Given the description of an element on the screen output the (x, y) to click on. 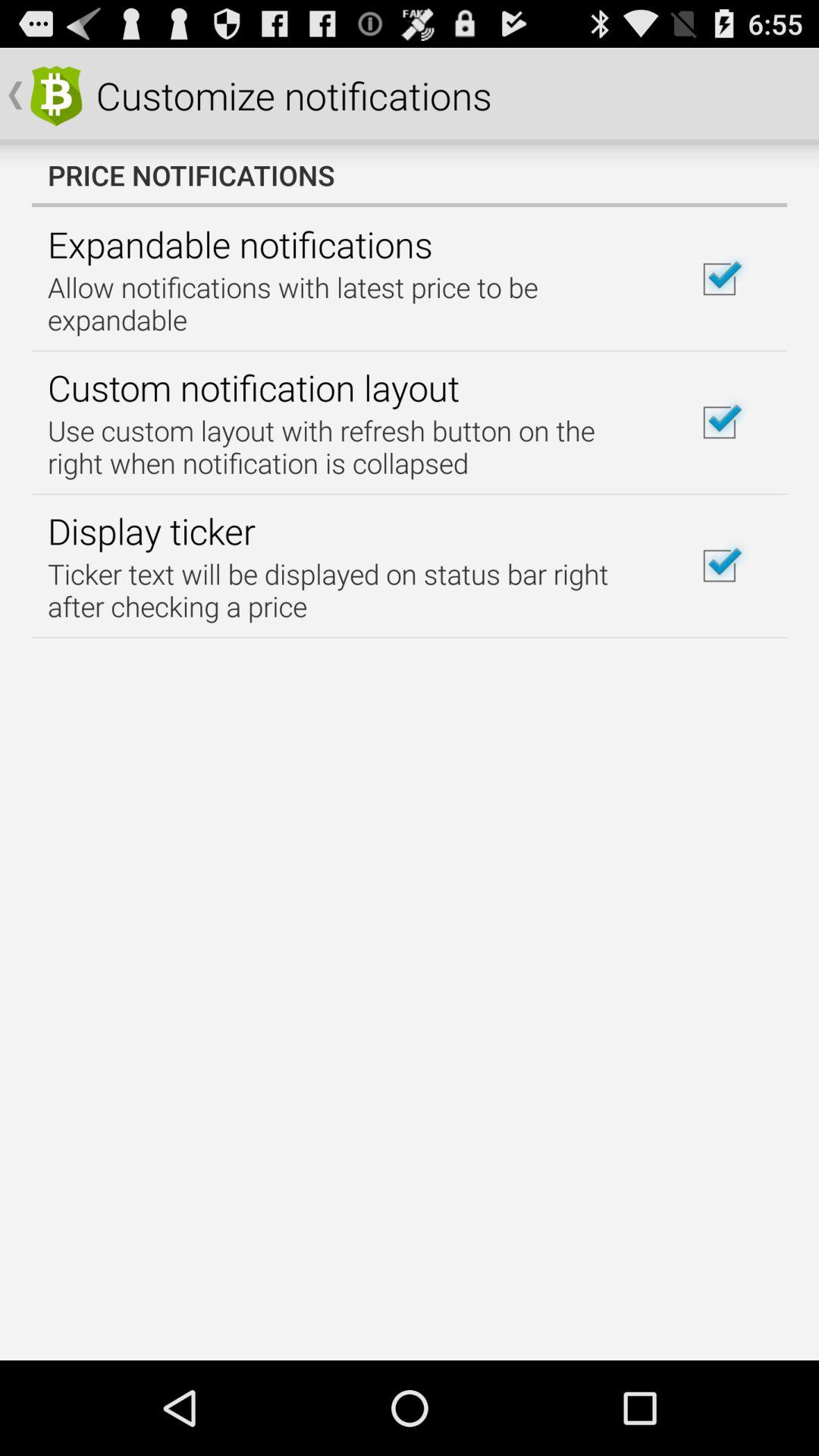
turn on the app below expandable notifications icon (351, 303)
